Given the description of an element on the screen output the (x, y) to click on. 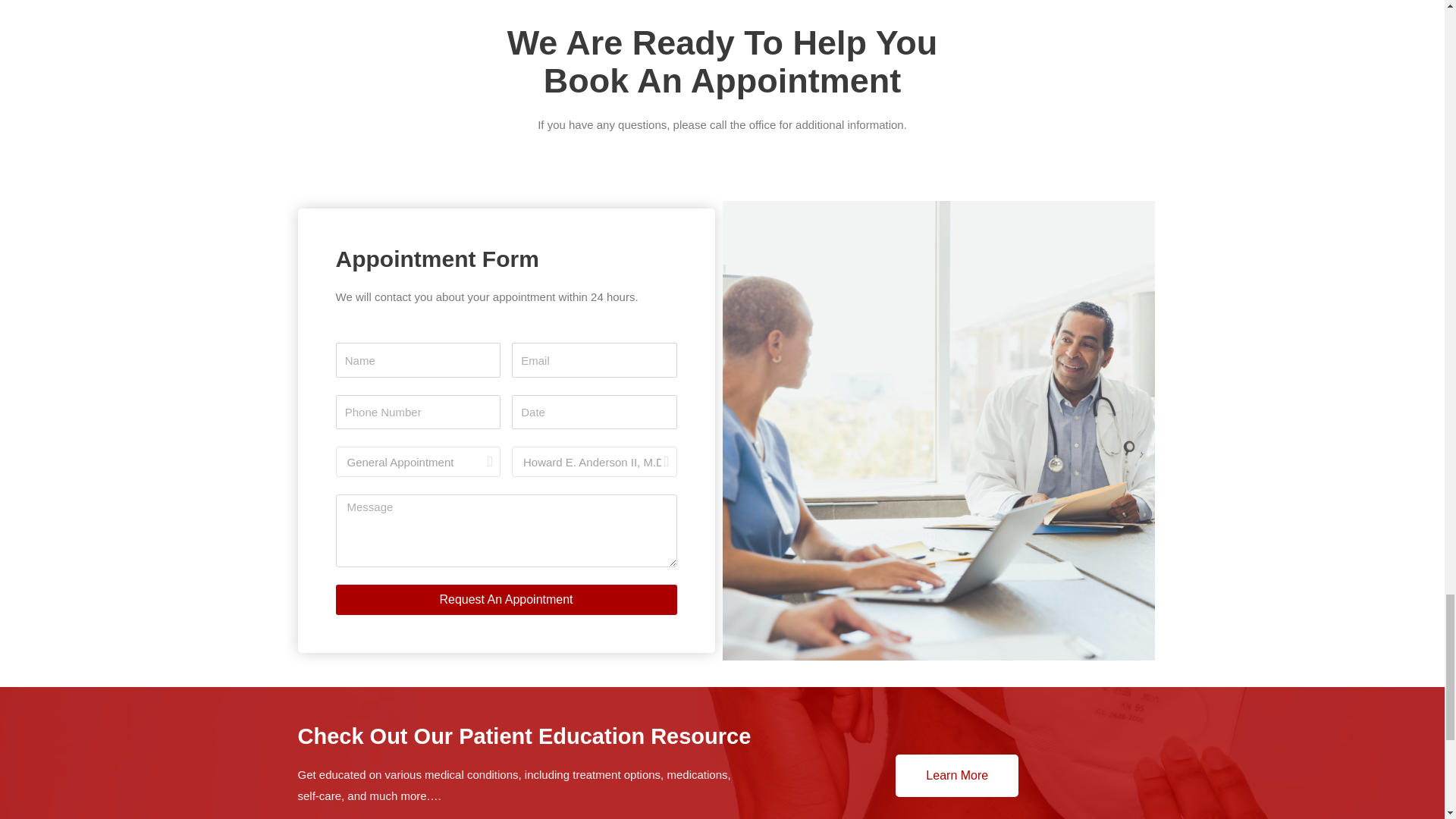
Request An Appointment (505, 599)
